Given the description of an element on the screen output the (x, y) to click on. 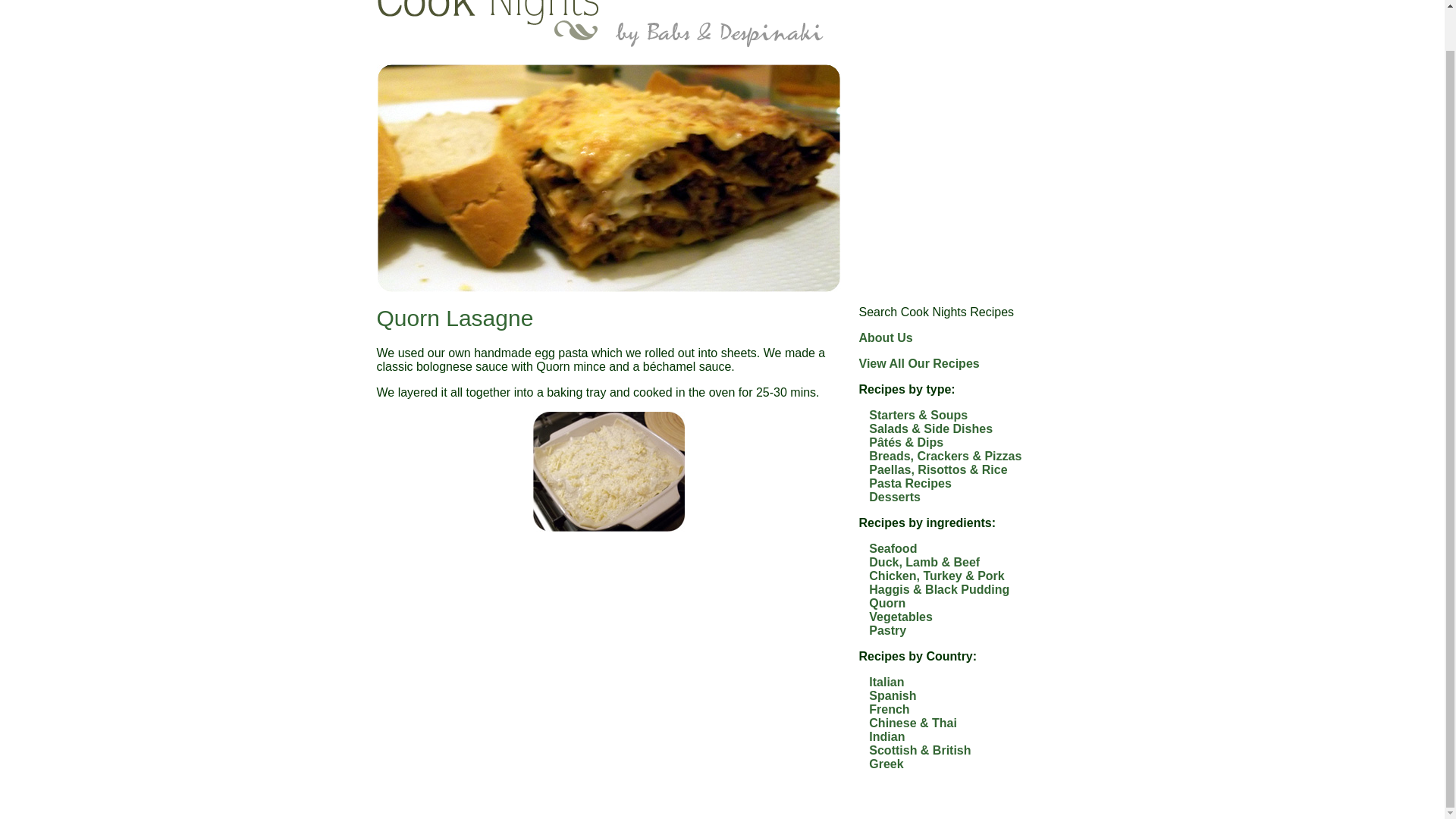
St Patrick's Day Pasta (963, 118)
St Patrick's Day Pasta Recipe (963, 118)
About Us (885, 337)
Turkey Pho (962, 213)
Pastry (887, 630)
Vegetable Curry (962, 181)
Recipes by type: (963, 389)
Cod in Filo Pastry (962, 150)
Black Pudding Tortellini Recipe (963, 133)
Quorn Lasagne Recipe Cook Nights by Babs and Despinaki (607, 177)
